Given the description of an element on the screen output the (x, y) to click on. 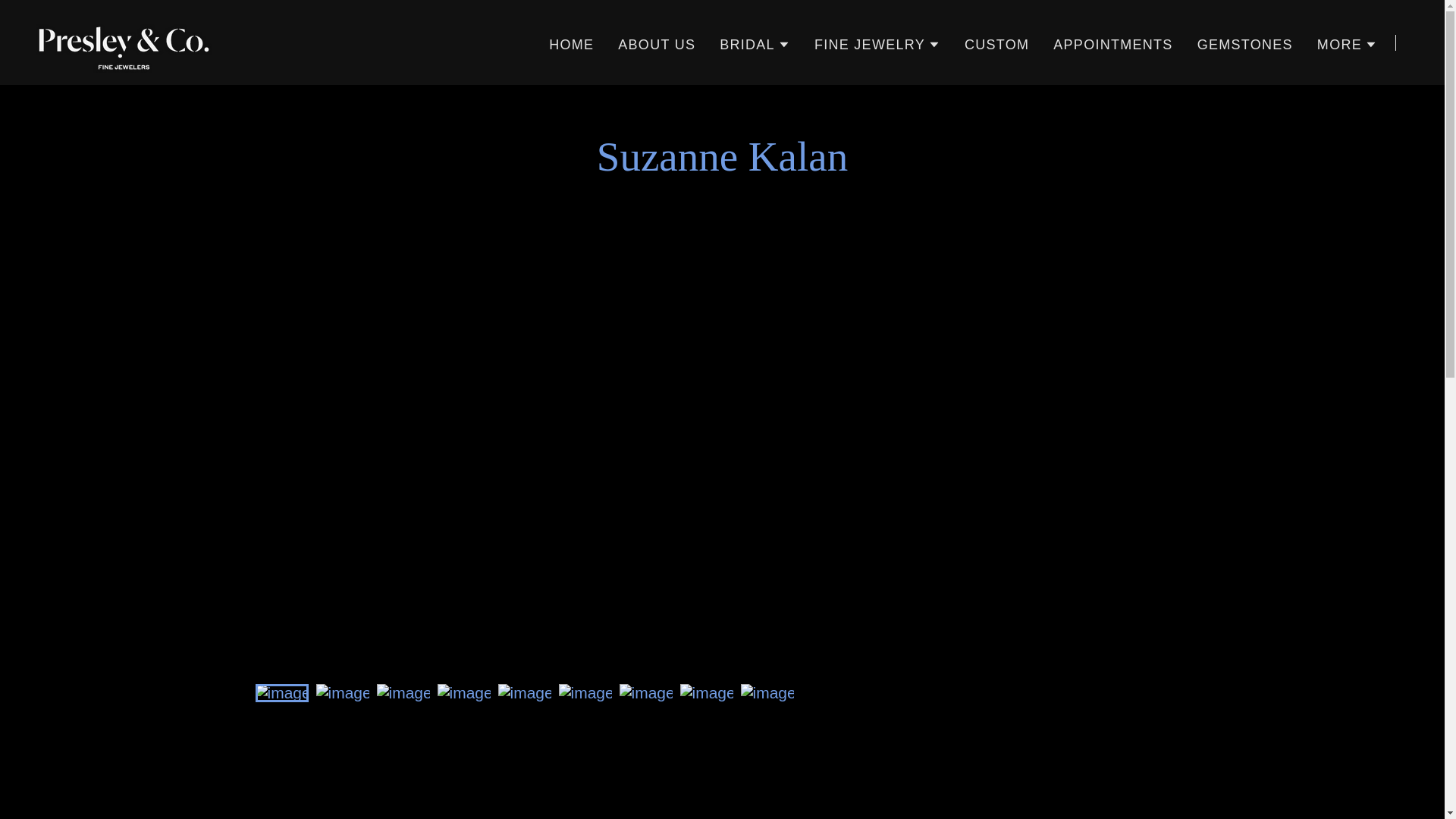
BRIDAL (754, 44)
FINE JEWELRY (876, 44)
HOME (571, 43)
CUSTOM (996, 43)
ABOUT US (656, 43)
